Given the description of an element on the screen output the (x, y) to click on. 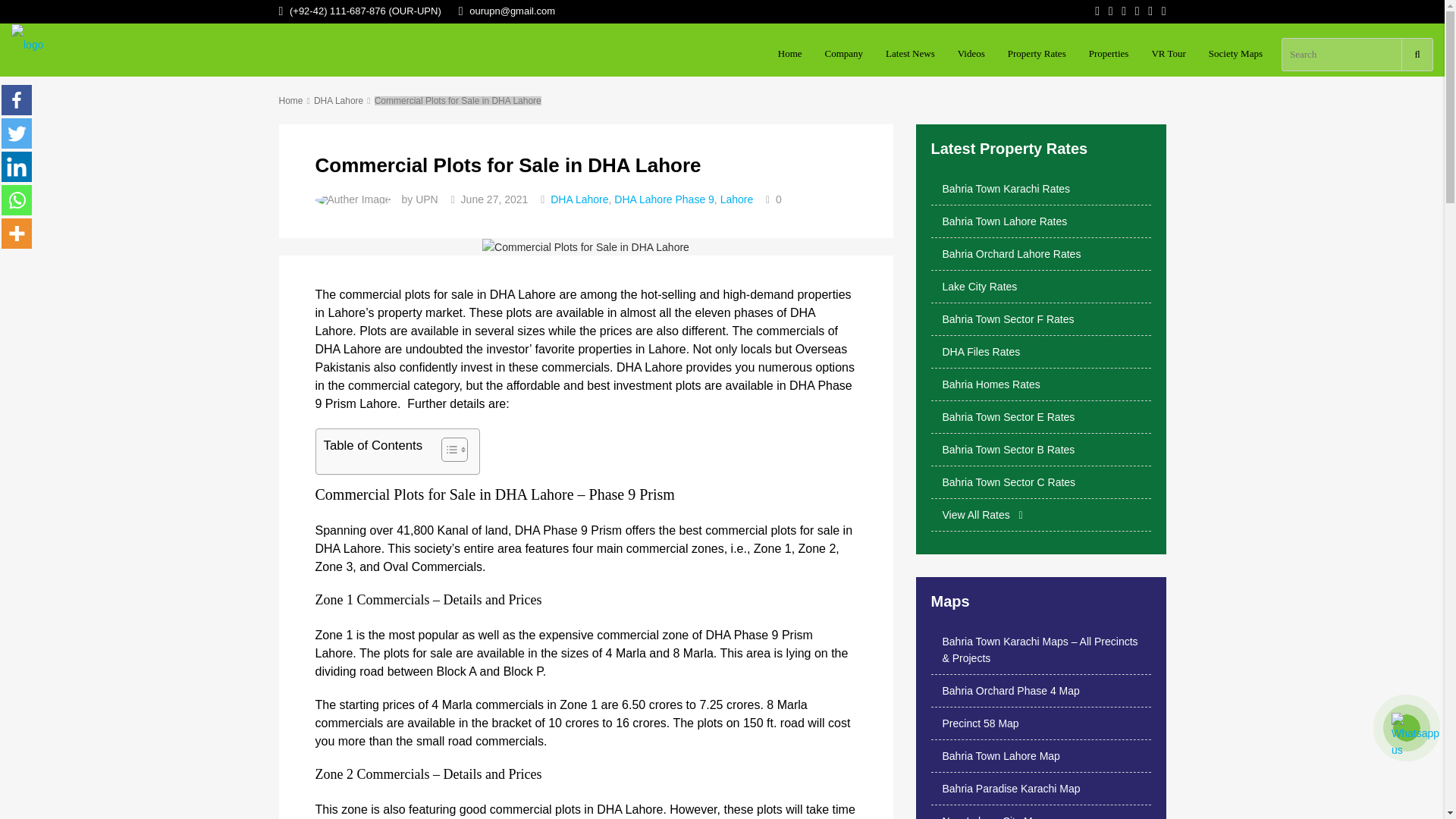
Company (844, 53)
Videos (970, 53)
More (16, 233)
Home (790, 53)
Properties (1108, 53)
Whatsapp (16, 200)
Facebook (16, 100)
Linkedin (16, 166)
Twitter (16, 132)
Latest News (910, 53)
